Given the description of an element on the screen output the (x, y) to click on. 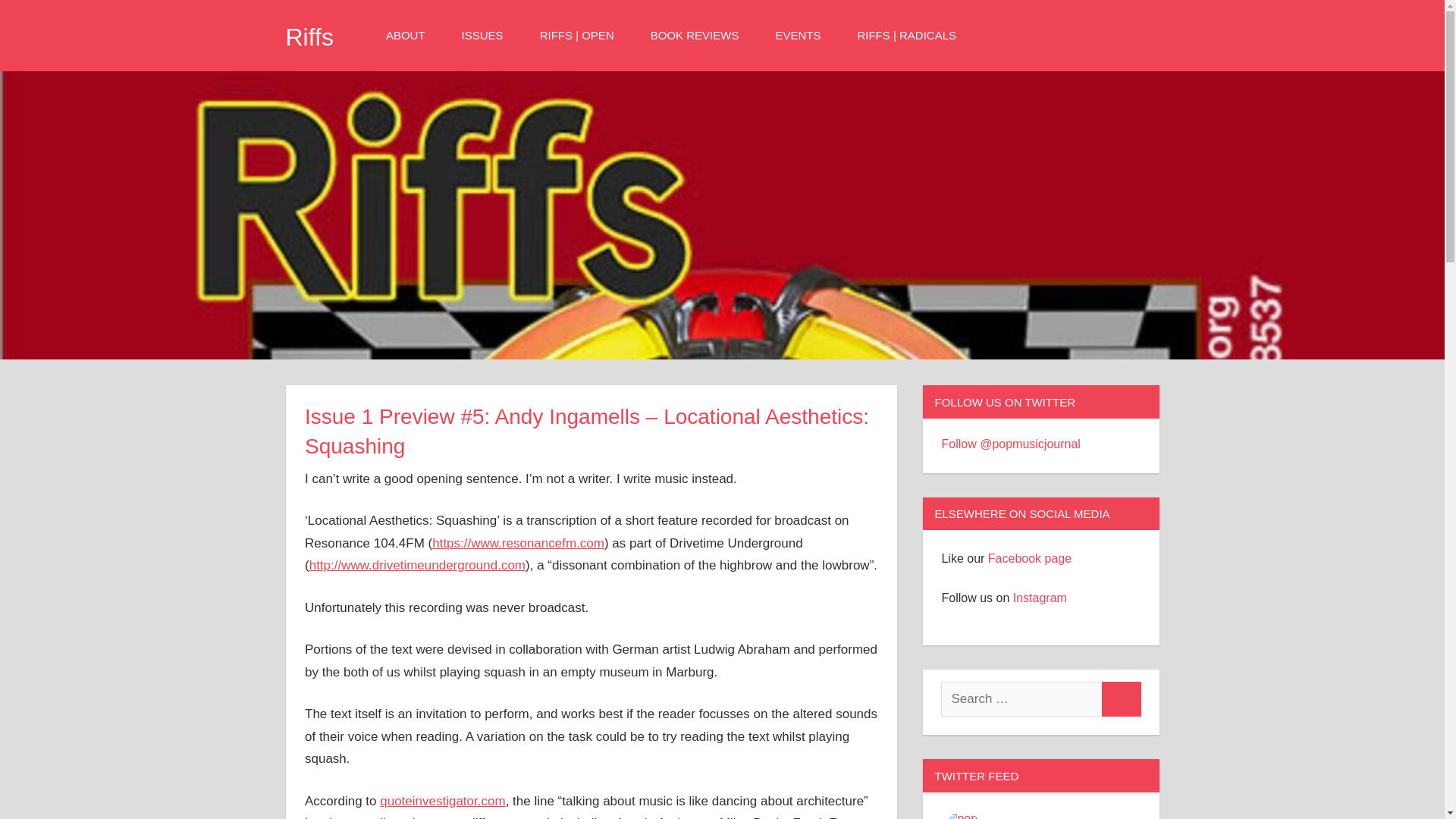
Riffs (309, 36)
ISSUES (486, 35)
ABOUT (410, 35)
Search for: (1021, 698)
